Given the description of an element on the screen output the (x, y) to click on. 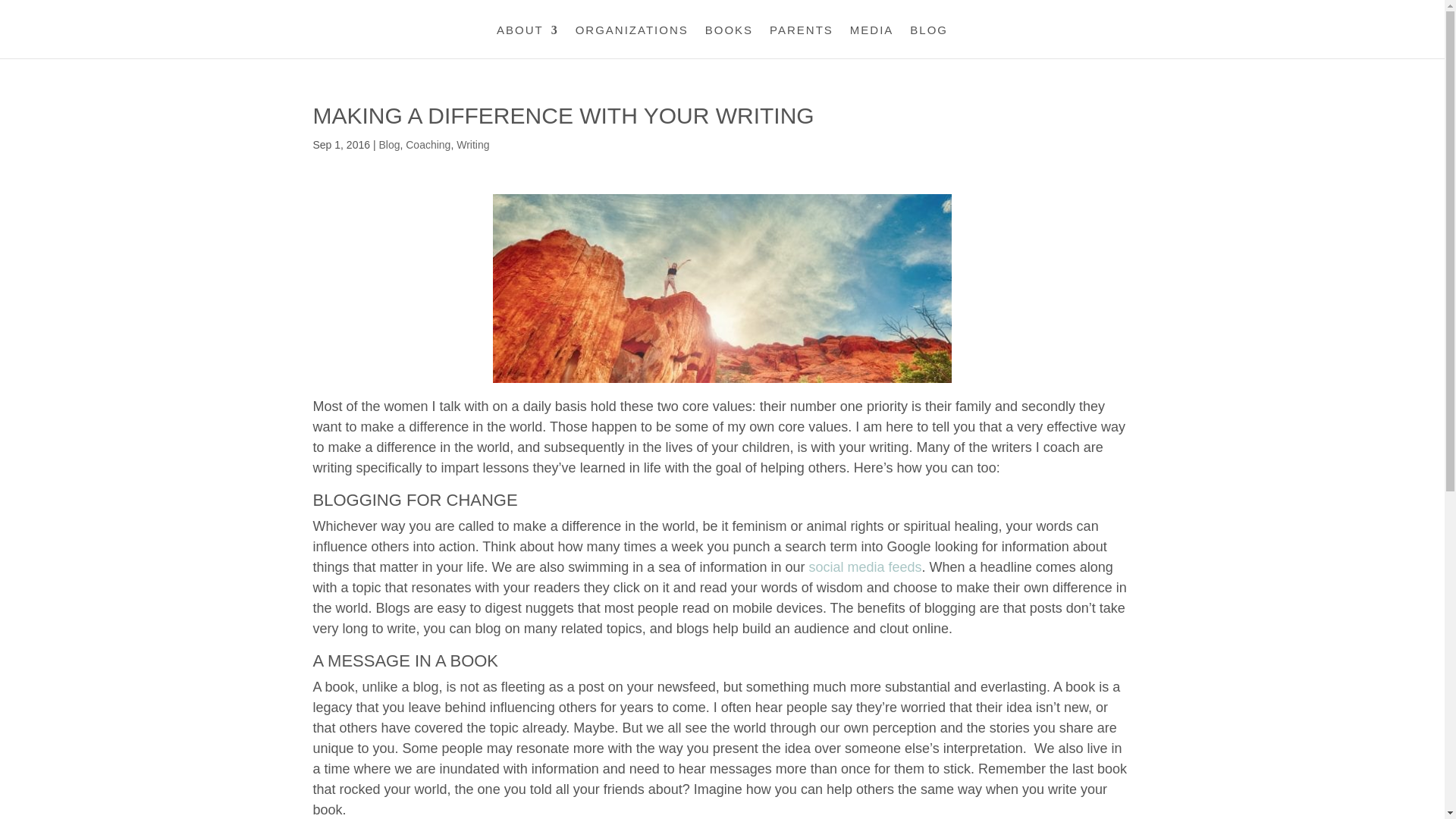
Make a Difference with writing (722, 288)
Coaching (427, 144)
BLOG (928, 41)
ORGANIZATIONS (631, 41)
Blog (388, 144)
PARENTS (801, 41)
BOOKS (728, 41)
ABOUT (527, 41)
Writing (473, 144)
MEDIA (871, 41)
